Given the description of an element on the screen output the (x, y) to click on. 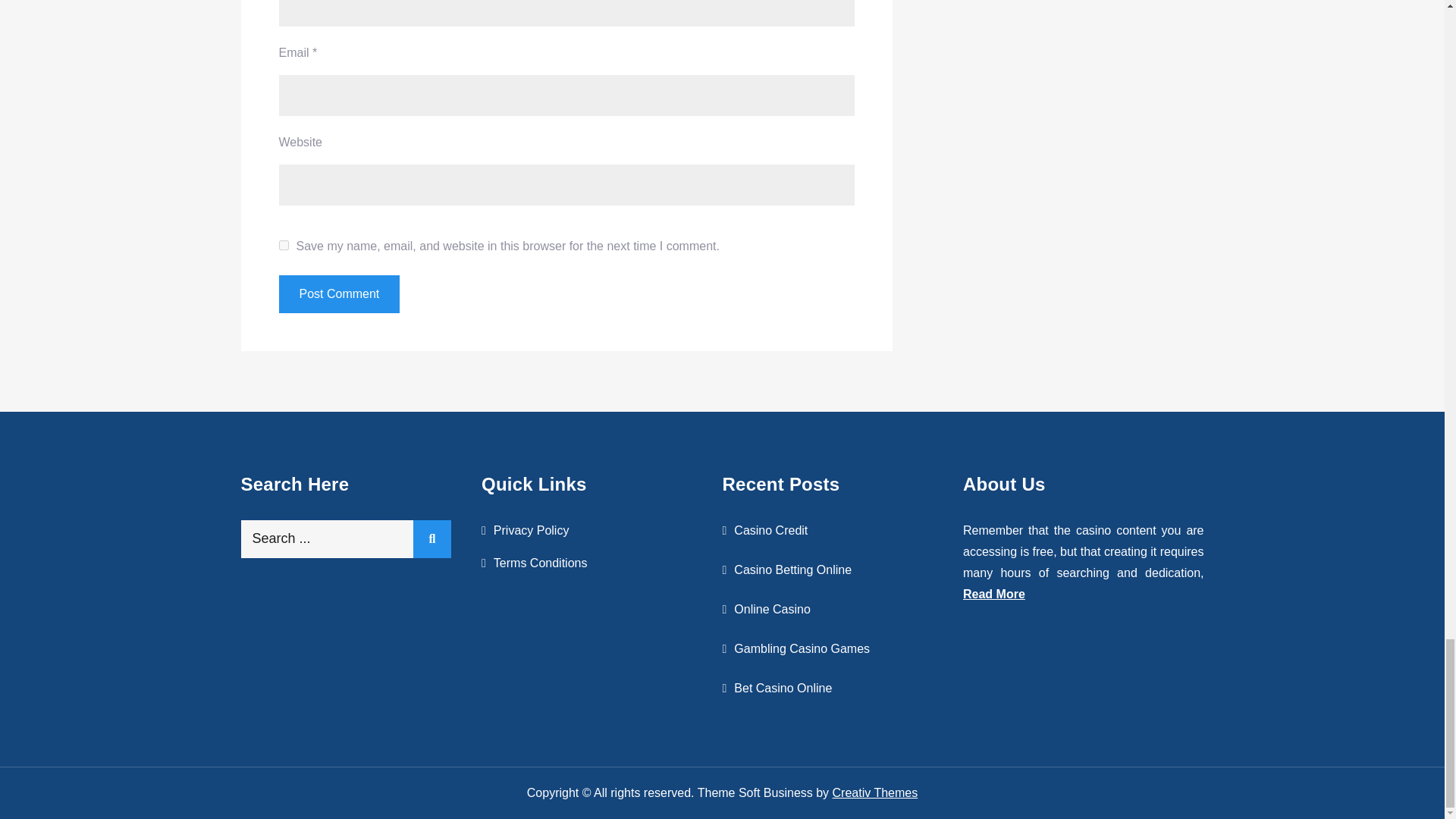
Privacy Policy (531, 530)
Search for: (346, 538)
Post Comment (339, 293)
Casino Betting Online (792, 569)
yes (283, 245)
Search (432, 538)
Terms Conditions (540, 562)
Creativ Themes (875, 792)
Read More (993, 594)
Online Casino (771, 608)
Gambling Casino Games (801, 649)
Post Comment (339, 293)
Casino Credit (770, 530)
Bet Casino Online (782, 688)
